Given the description of an element on the screen output the (x, y) to click on. 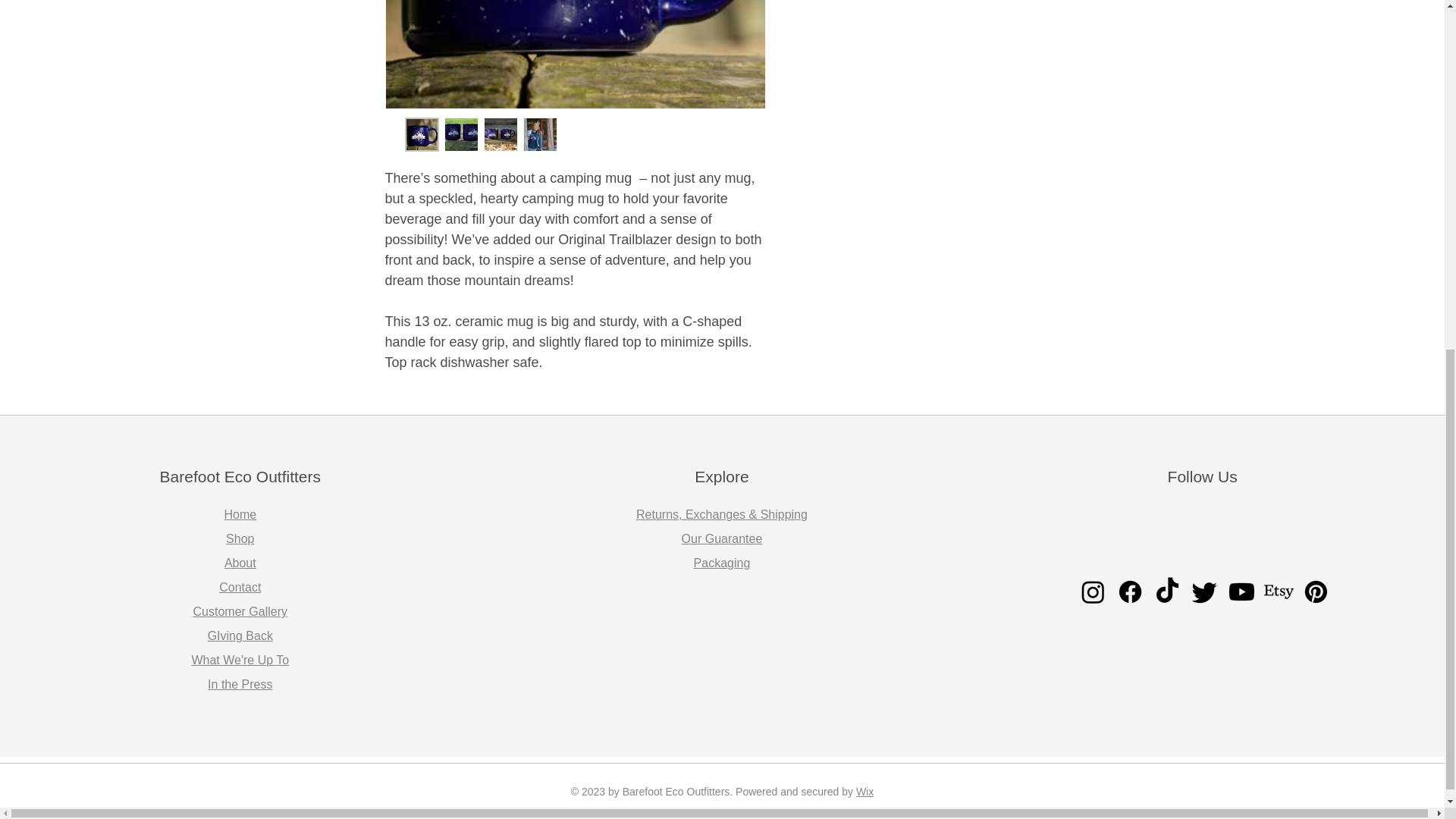
Contact (239, 586)
Shop (239, 538)
GIving Back (240, 635)
Customer Gallery (239, 611)
What We're Up To (239, 659)
Home (240, 513)
About (240, 562)
